Given the description of an element on the screen output the (x, y) to click on. 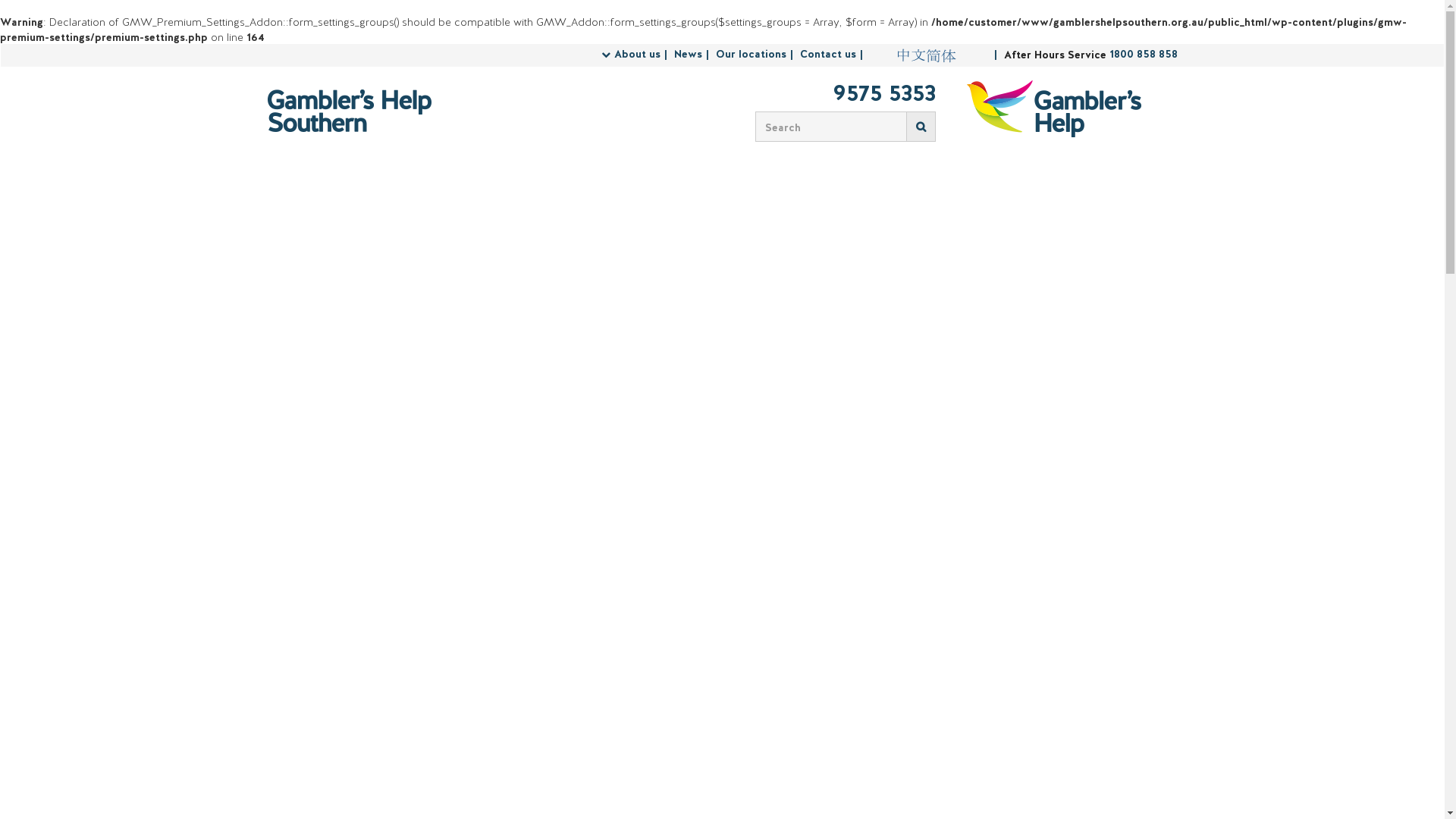
News Element type: text (692, 54)
Contact us Element type: text (832, 54)
9575 5353 Element type: text (839, 94)
Help in other languages Element type: hover (925, 54)
1800 858 858 Element type: text (1142, 54)
Our locations Element type: text (756, 54)
About us Element type: text (642, 54)
